Given the description of an element on the screen output the (x, y) to click on. 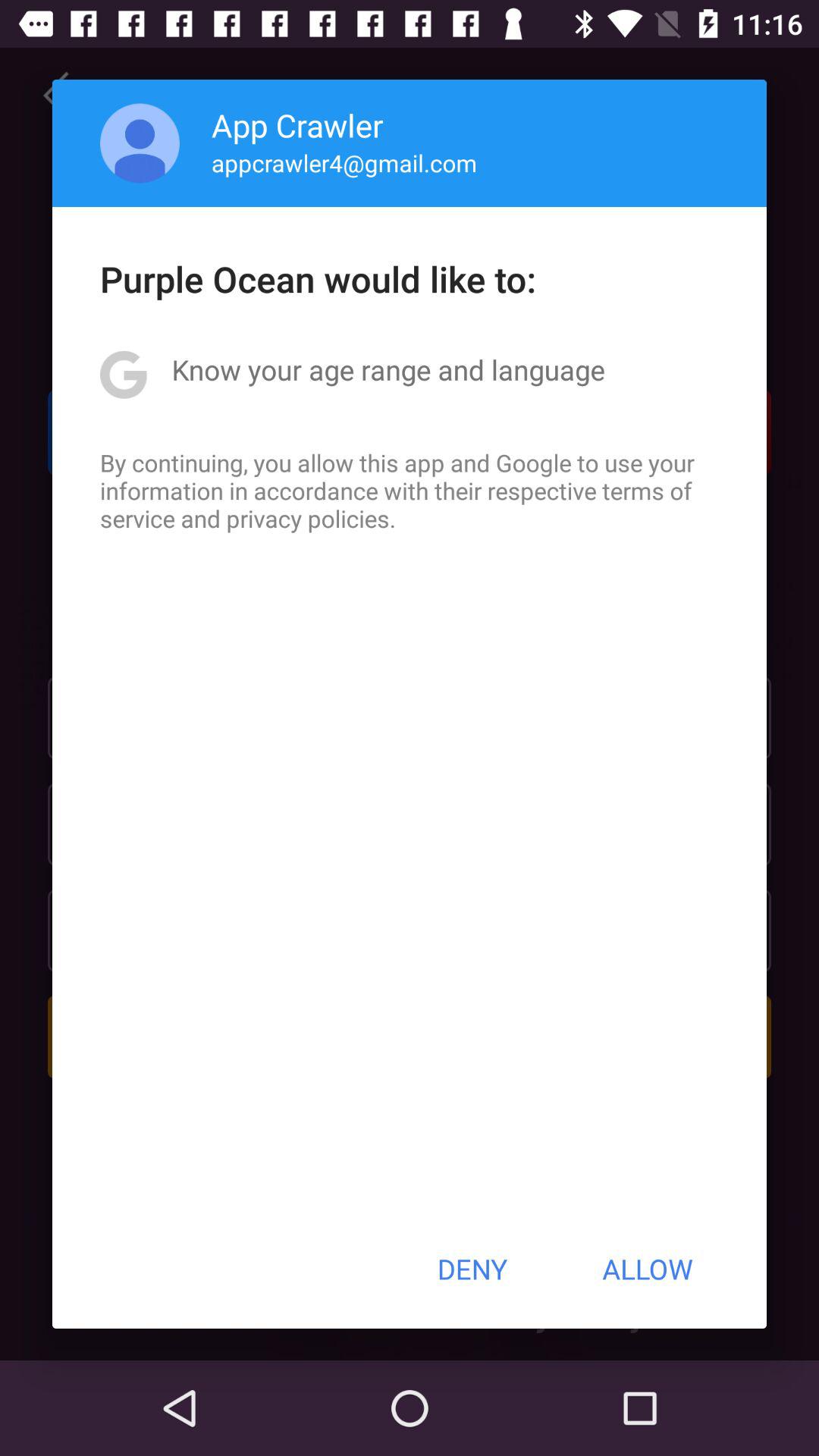
jump to the appcrawler4@gmail.com (344, 162)
